Given the description of an element on the screen output the (x, y) to click on. 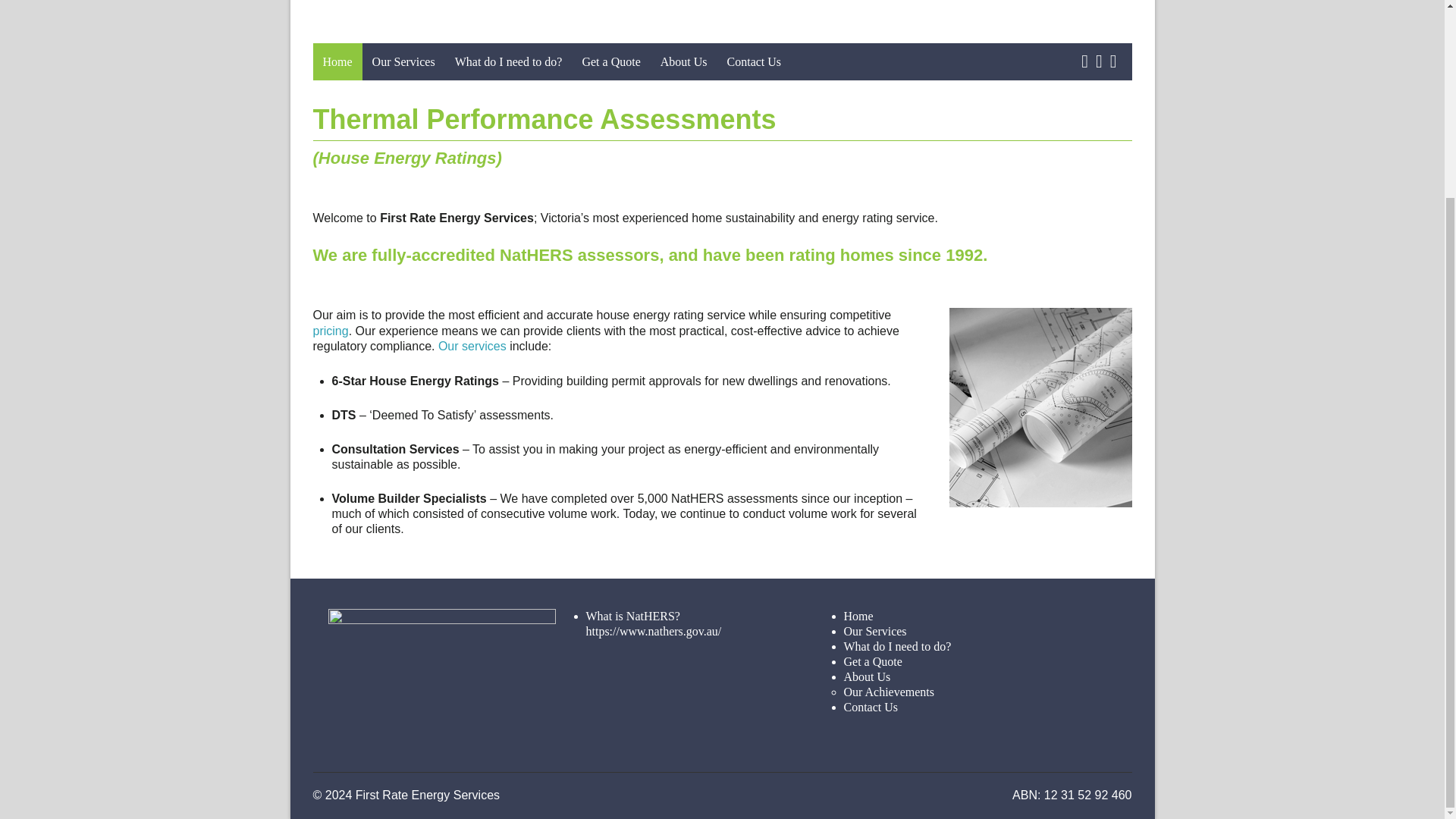
About Us (866, 676)
What do I need to do? (896, 645)
Our Achievements (888, 691)
Our services (472, 345)
Home (857, 615)
pricing (330, 330)
About Us (683, 61)
Our Services (874, 631)
Home (337, 61)
What do I need to do? (508, 61)
